Given the description of an element on the screen output the (x, y) to click on. 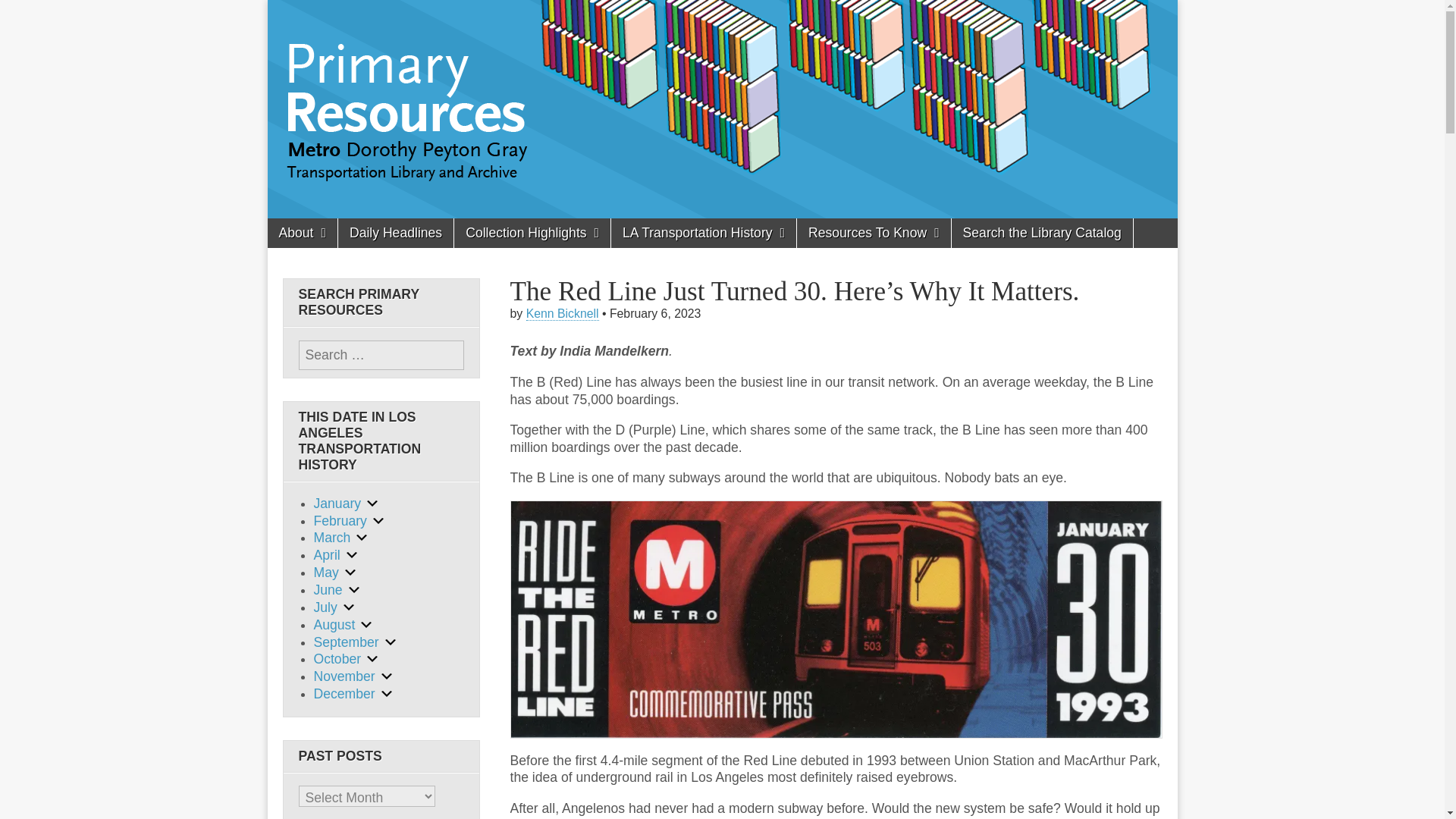
Metro's Primary Resources (356, 76)
Resources To Know (873, 233)
Kenn Bicknell (561, 314)
Posts by Kenn Bicknell (561, 314)
About (301, 233)
Collection Highlights (532, 233)
LA Transportation History (703, 233)
Metro's Primary Resources (356, 76)
Search the Library Catalog (1042, 233)
Daily Headlines (394, 233)
